Given the description of an element on the screen output the (x, y) to click on. 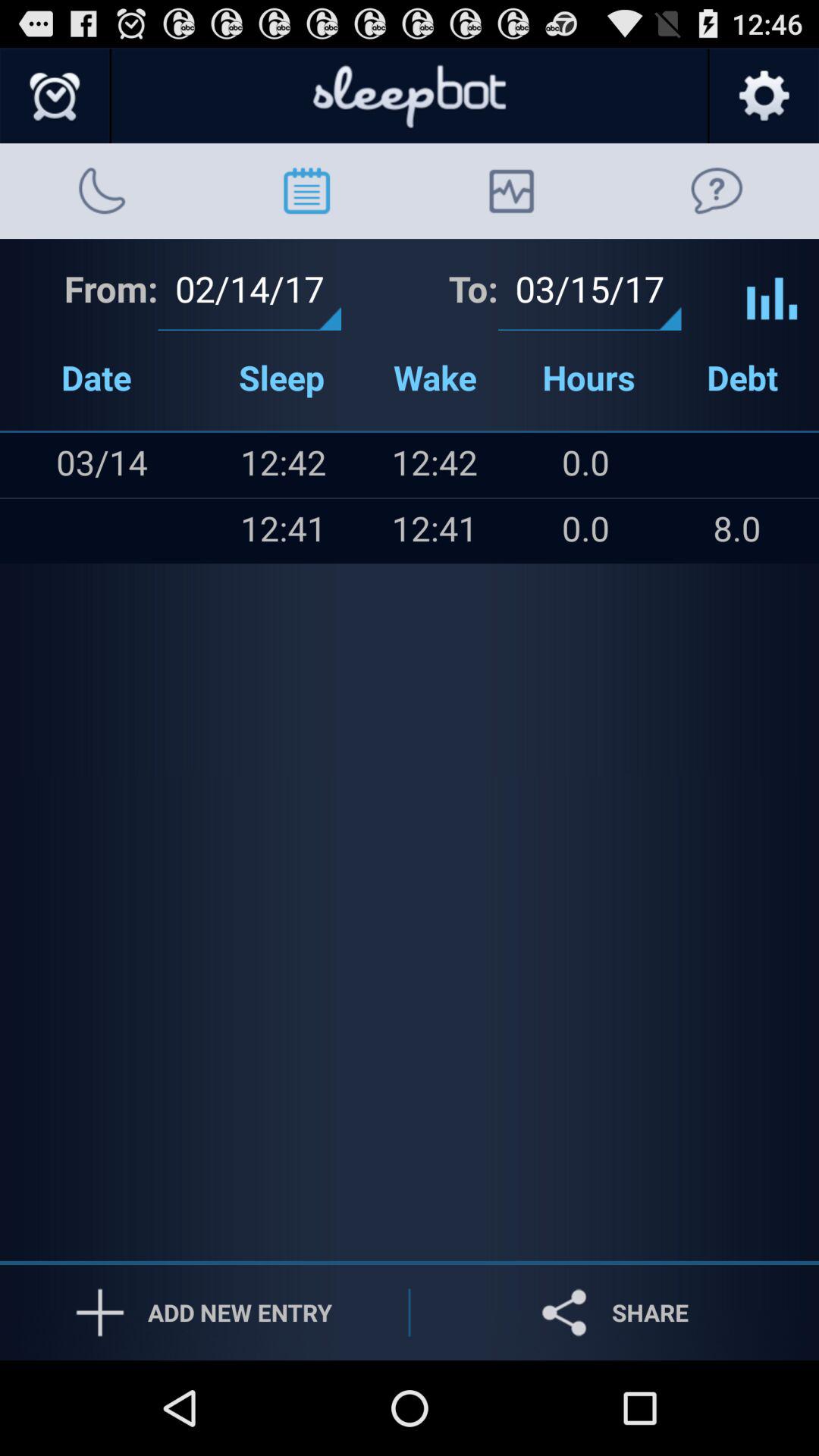
choose item to the left of 03/14 icon (31, 531)
